Given the description of an element on the screen output the (x, y) to click on. 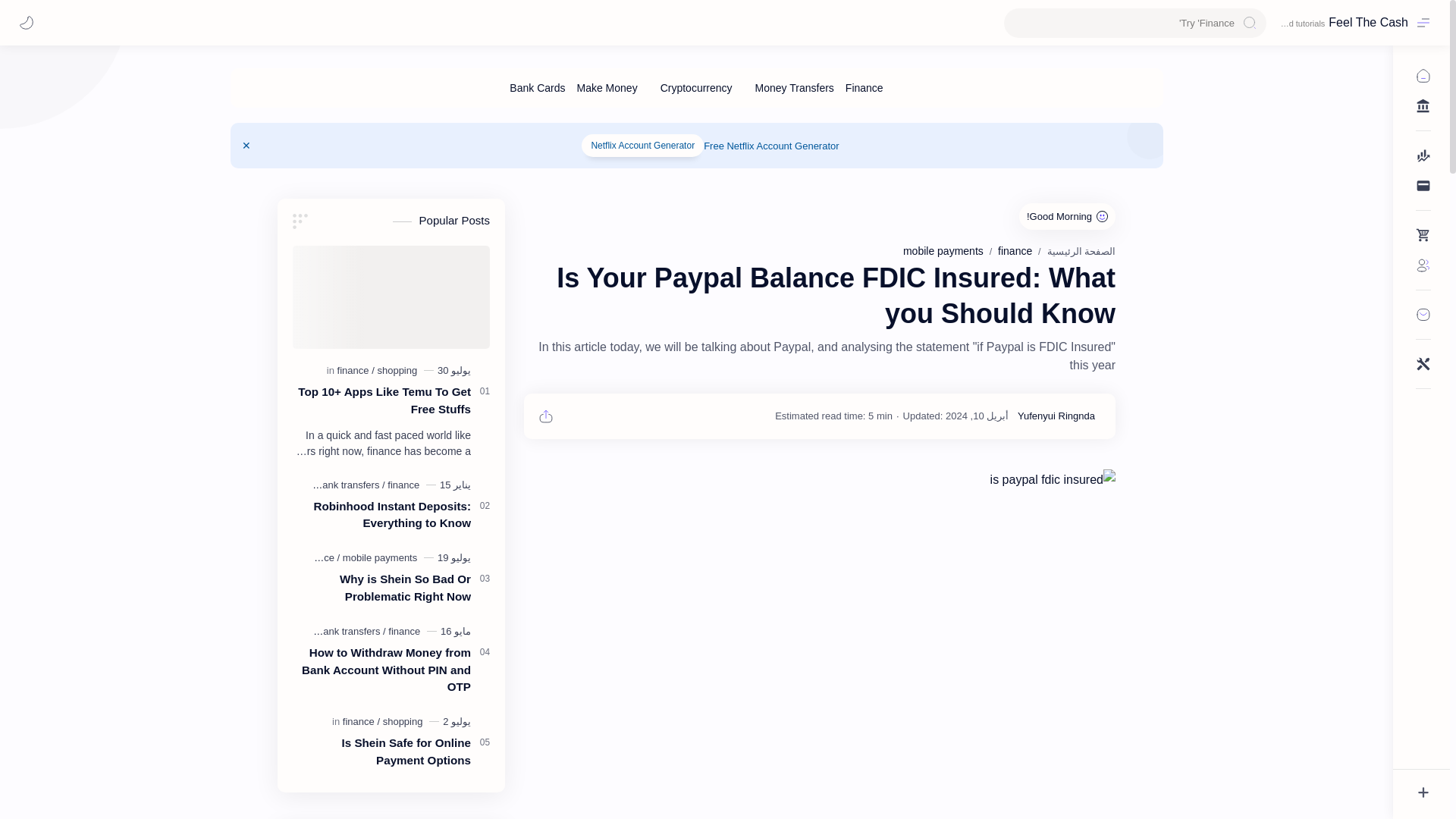
finance (1014, 250)
mobile payments (943, 250)
Netflix Account Generator (641, 145)
Feel The Cash (1367, 22)
